Given the description of an element on the screen output the (x, y) to click on. 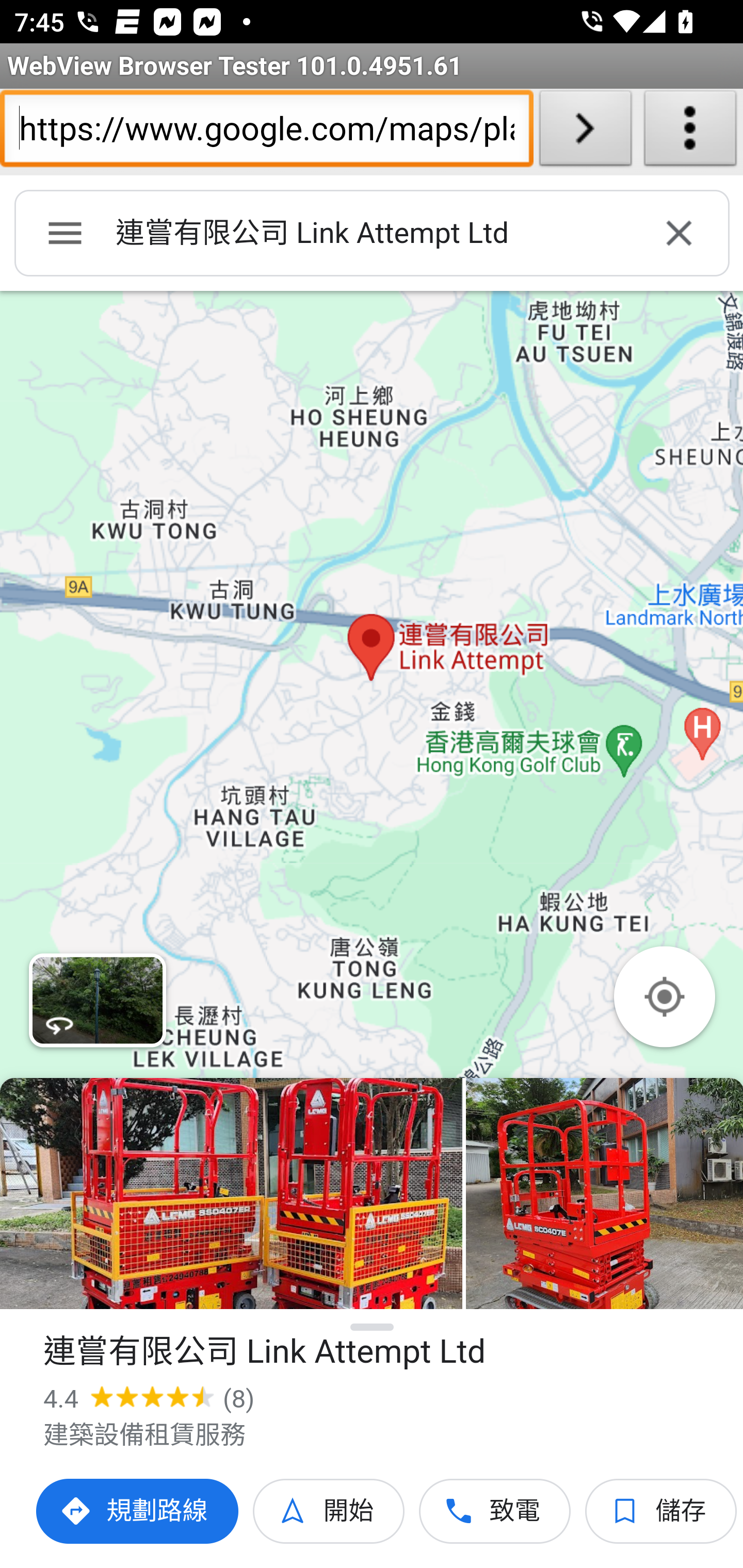
Load URL (585, 132)
About WebView (690, 132)
第 1 張相片 (共 9 張) (231, 1193)
第 2 張相片 (共 9 張) (604, 1193)
顯示詳細資料 (372, 1327)
前往連嘗有限公司 Link Attempt Ltd的路線 (137, 1511)
開始 (329, 1511)
致電「連嘗有限公司 Link Attempt Ltd」  致電 (495, 1511)
將「連嘗有限公司 Link Attempt Ltd」儲存至清單中 (661, 1511)
